Given the description of an element on the screen output the (x, y) to click on. 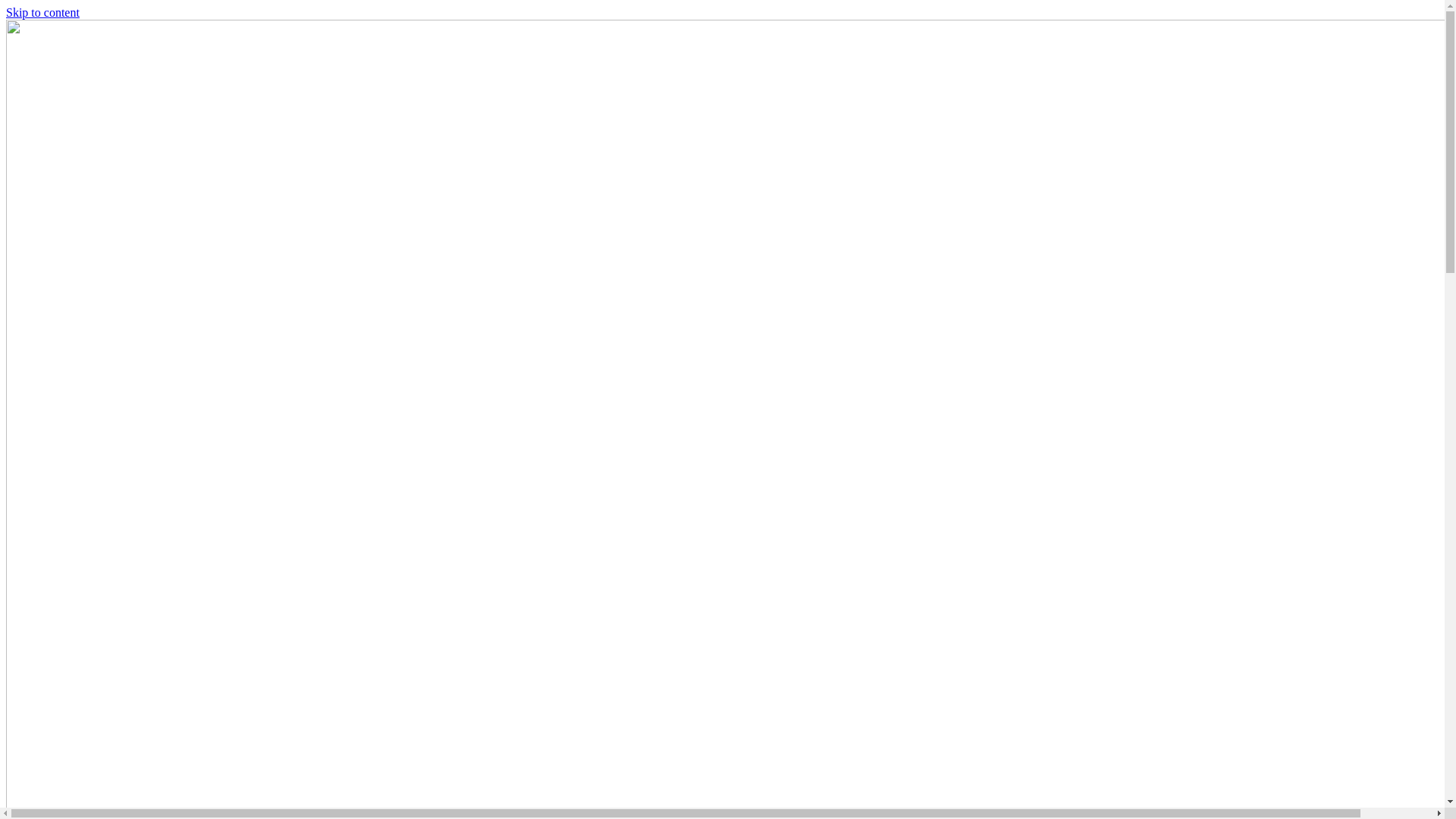
Skip to content Element type: text (42, 12)
